Given the description of an element on the screen output the (x, y) to click on. 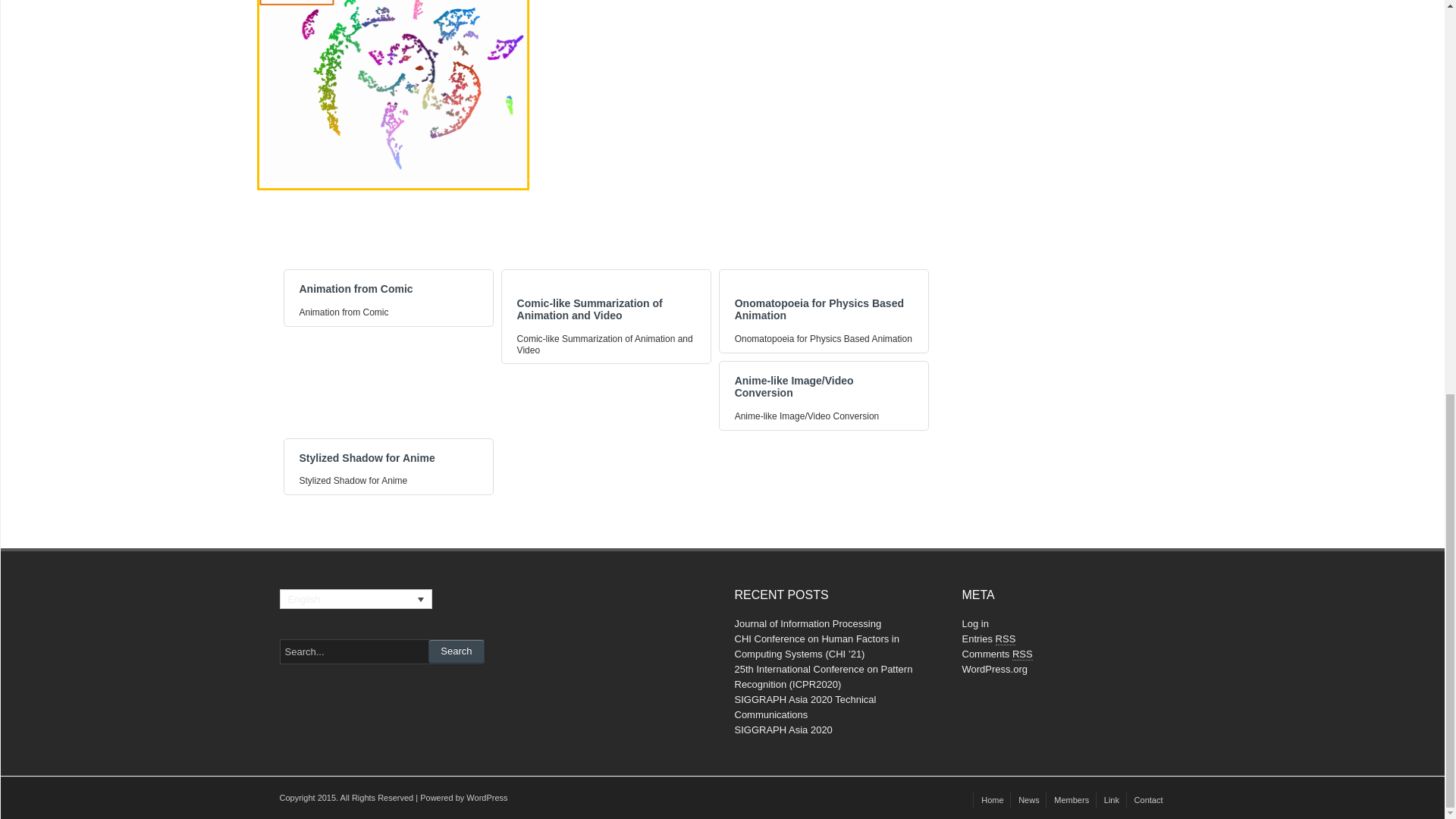
Search (455, 651)
Animation from Comic (355, 288)
Really Simple Syndication (1021, 654)
Search... (381, 651)
Really Simple Syndication (1005, 639)
